Given the description of an element on the screen output the (x, y) to click on. 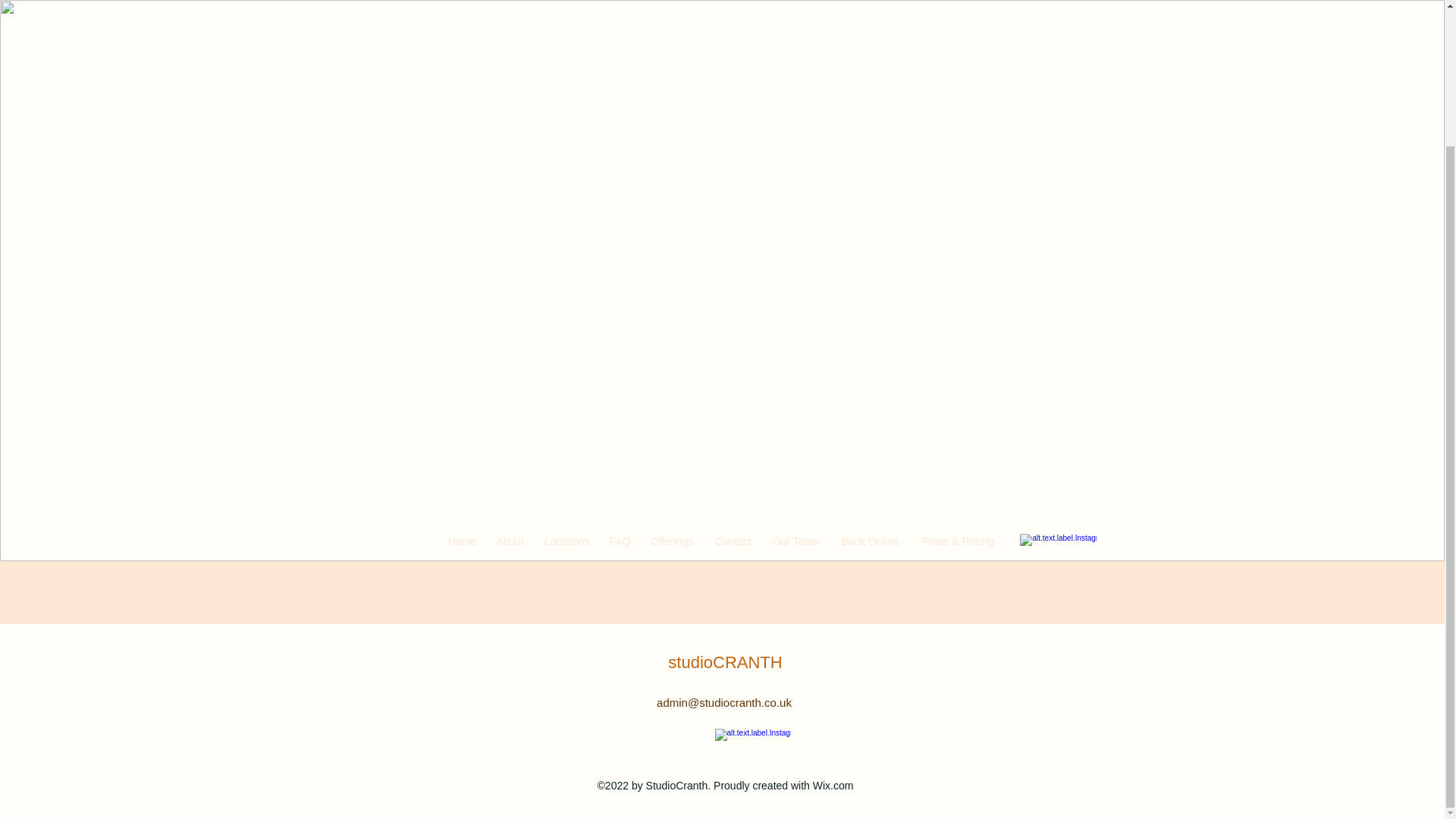
Book Online (870, 373)
Locations (566, 373)
Home (462, 373)
Contact (732, 373)
About (510, 373)
Our Team (795, 373)
FAQ (619, 373)
Offerings (671, 373)
